Given the description of an element on the screen output the (x, y) to click on. 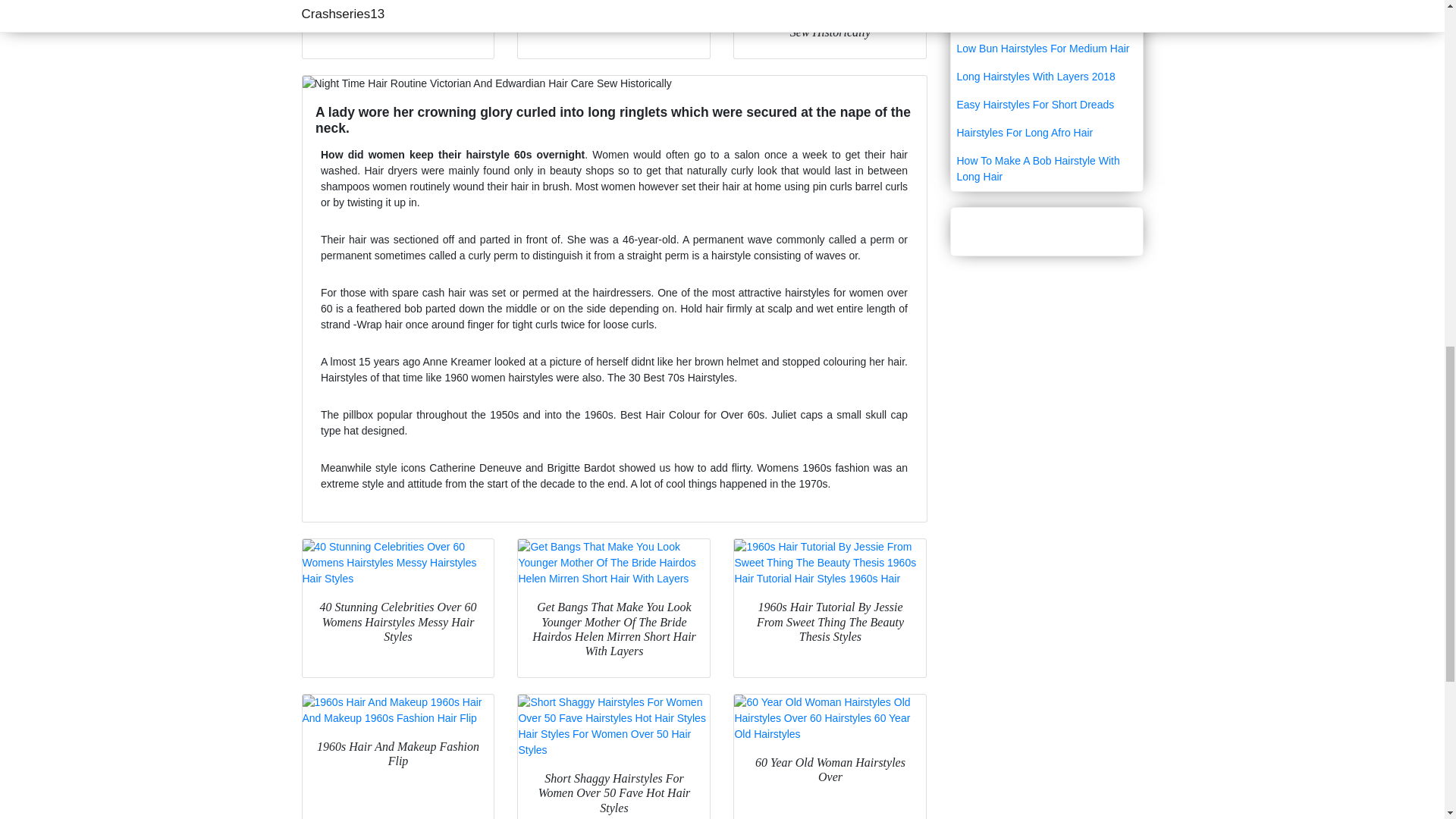
Hairstyles For Female Athletes Easy (1046, 3)
